Given the description of an element on the screen output the (x, y) to click on. 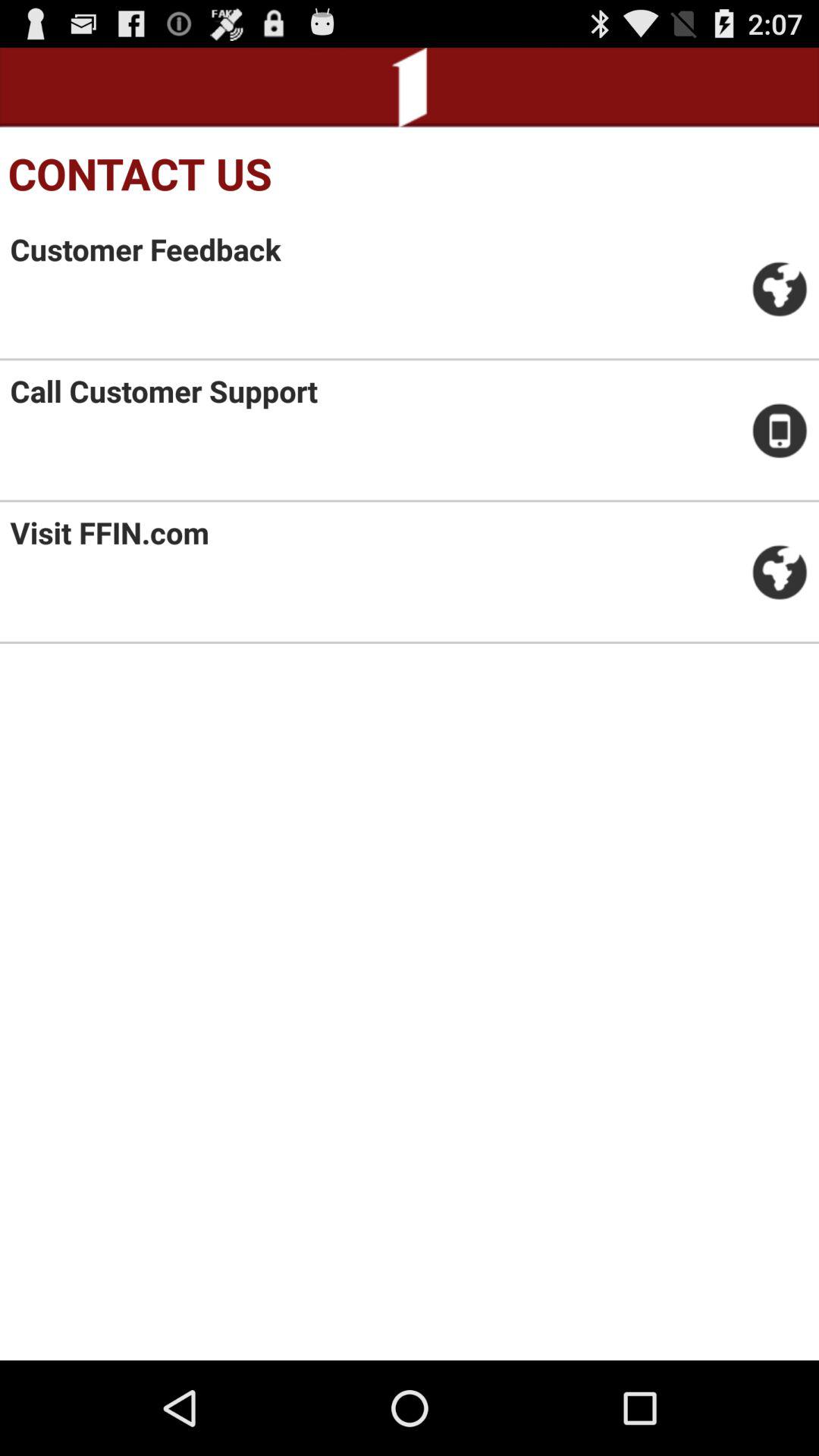
swipe until the visit ffin.com app (109, 532)
